Given the description of an element on the screen output the (x, y) to click on. 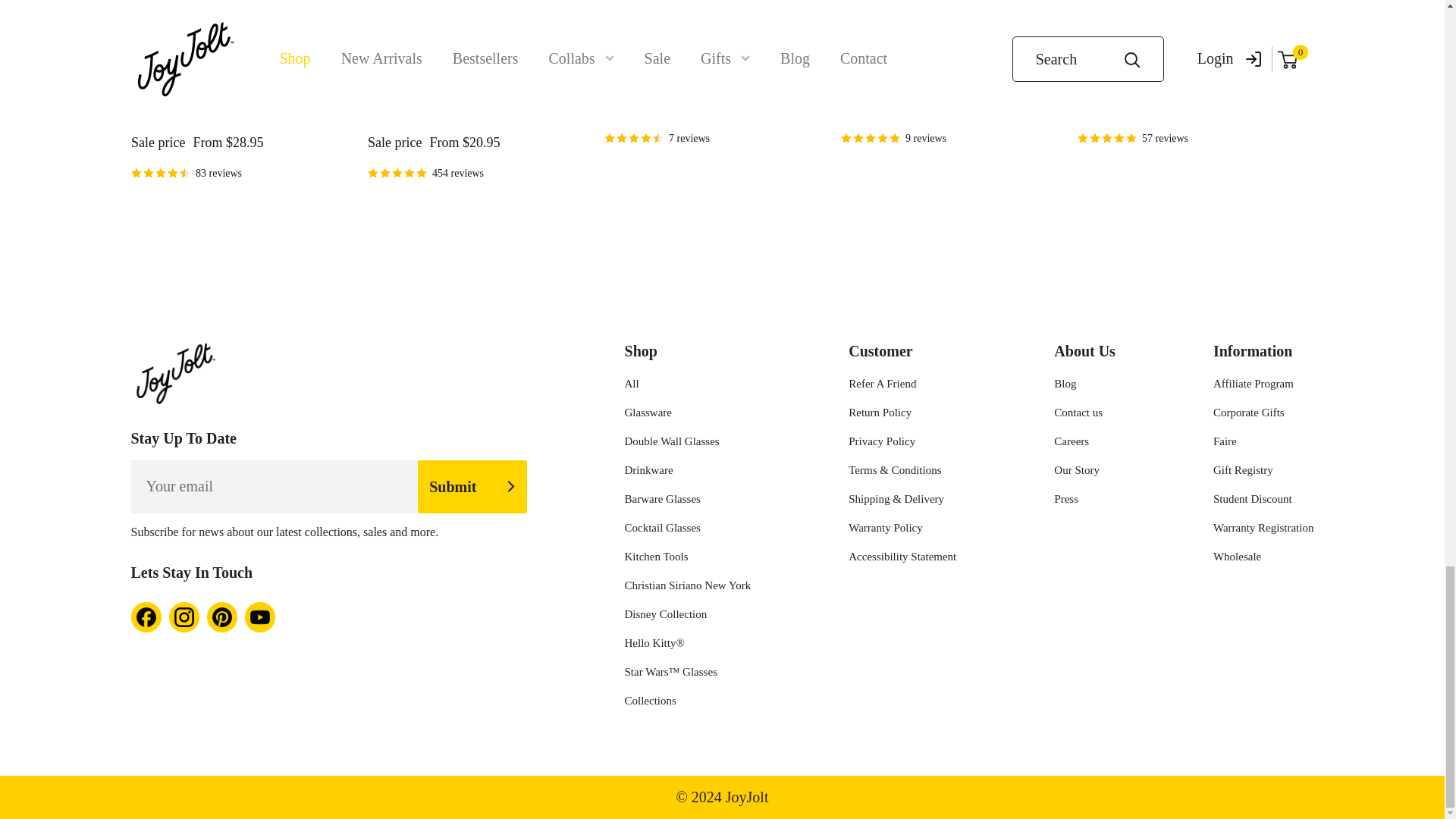
Green (185, 106)
Pink (208, 106)
Black (140, 106)
Grey (162, 106)
Blue (231, 106)
